Given the description of an element on the screen output the (x, y) to click on. 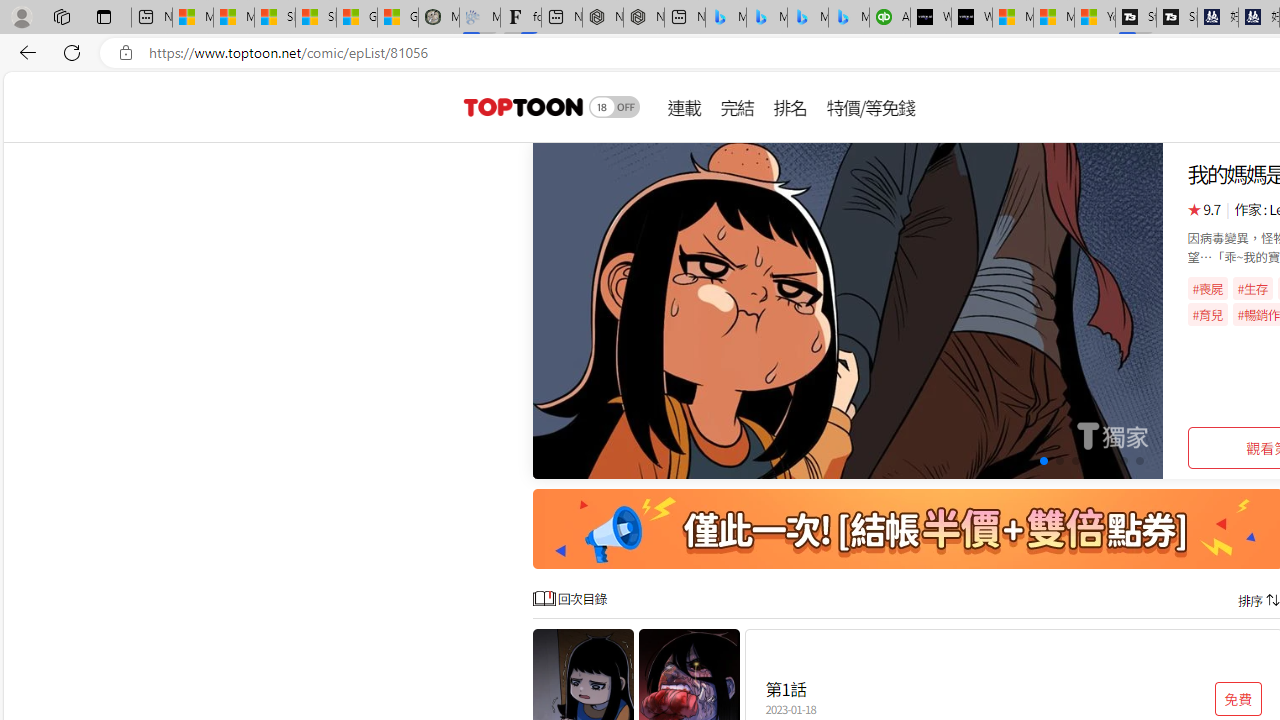
Class:  switch_18mode actionAdultBtn (614, 106)
Nordace - #1 Japanese Best-Seller - Siena Smart Backpack (643, 17)
Manatee Mortality Statistics | FWC (438, 17)
Go to slide 8 (1107, 461)
Go to slide 9 (1122, 461)
Class: swiper-slide (847, 310)
Go to slide 5 (1058, 461)
